Given the description of an element on the screen output the (x, y) to click on. 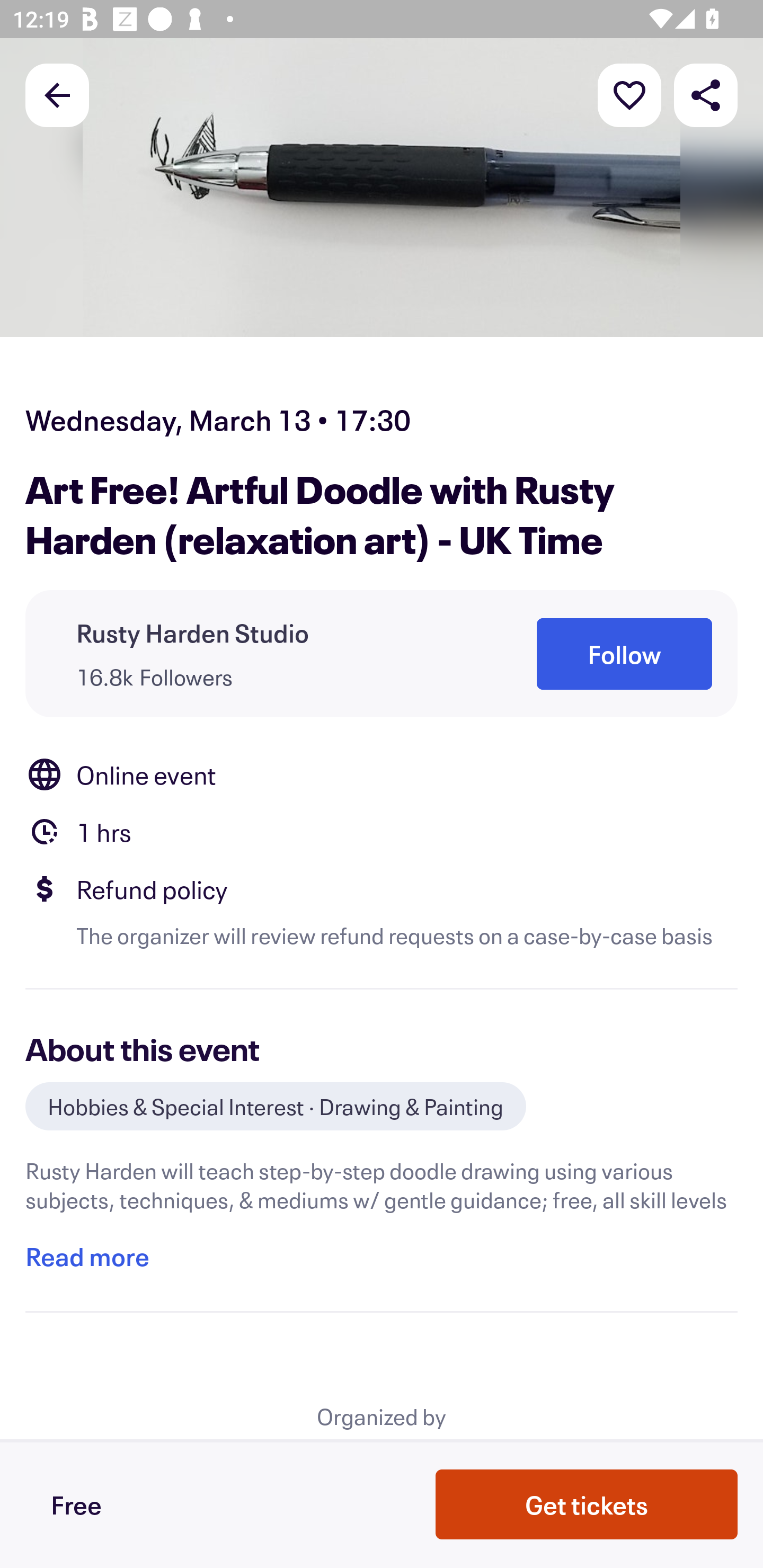
Back (57, 94)
More (629, 94)
Share (705, 94)
Rusty Harden Studio (192, 632)
Follow (623, 654)
Location Online event (381, 774)
Read more (87, 1256)
Get tickets (586, 1504)
